Given the description of an element on the screen output the (x, y) to click on. 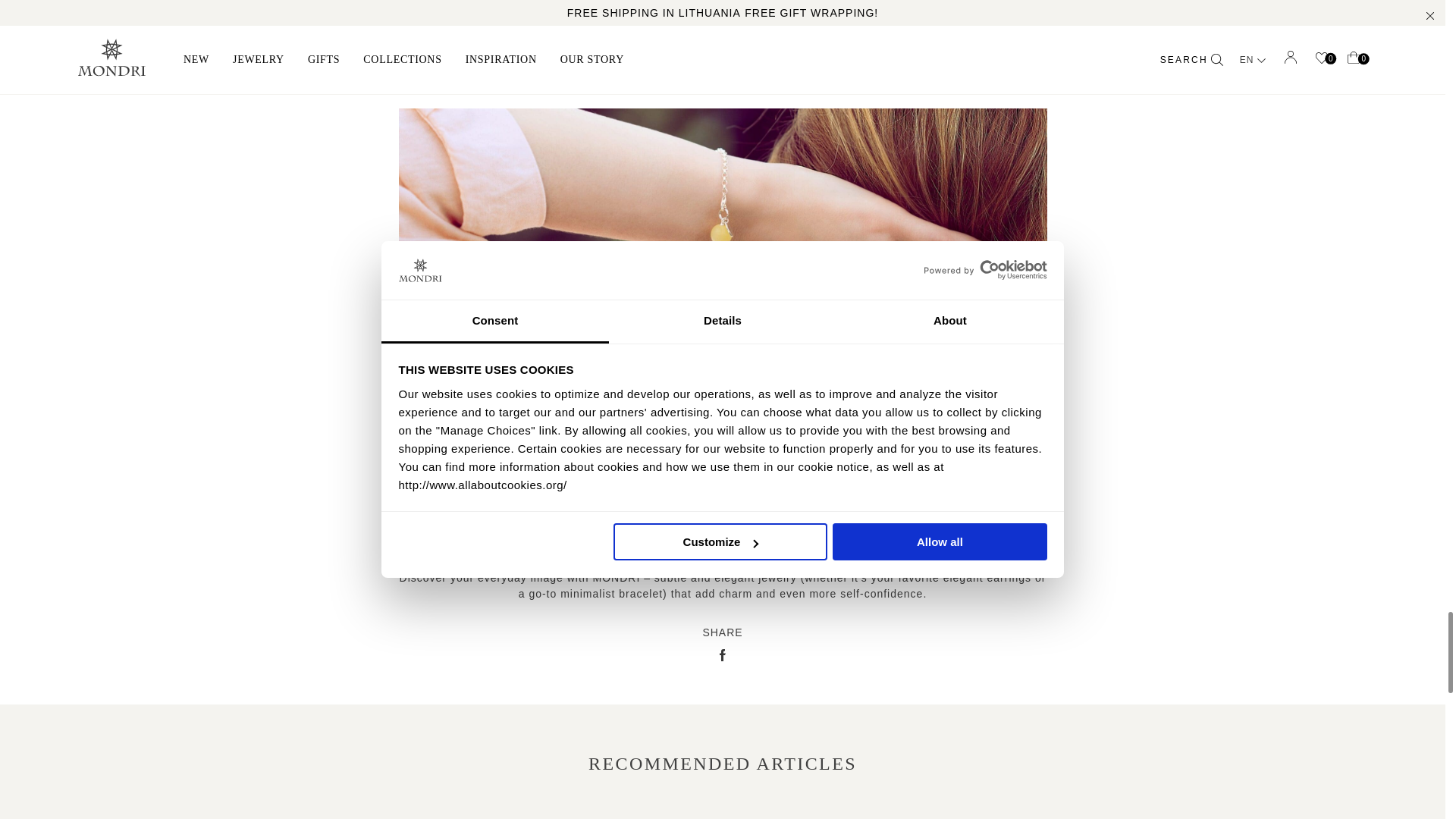
Share on Facebook. (722, 656)
